Given the description of an element on the screen output the (x, y) to click on. 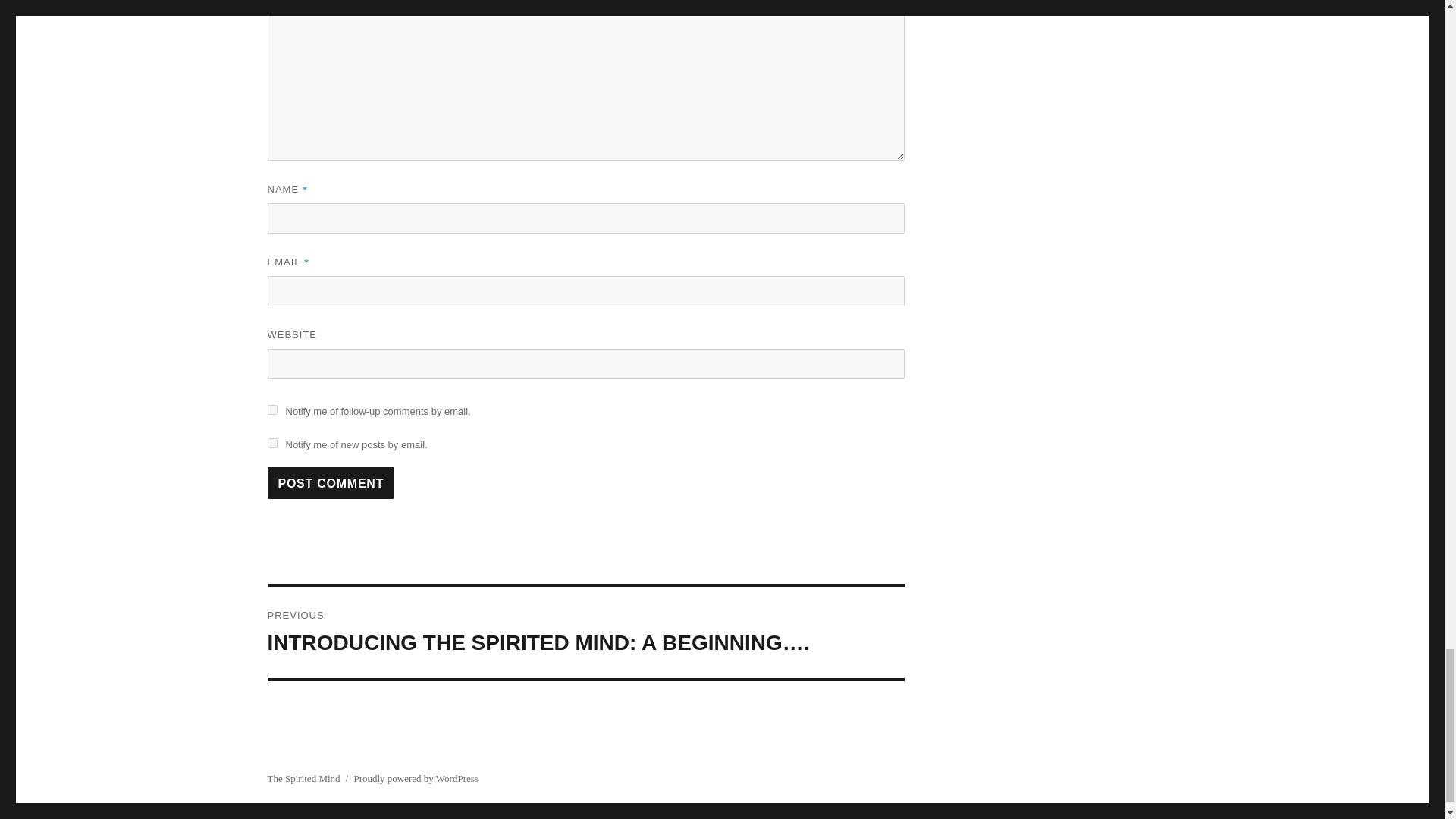
Proudly powered by WordPress (415, 778)
The Spirited Mind (302, 778)
subscribe (271, 442)
subscribe (271, 409)
Post Comment (330, 482)
Post Comment (330, 482)
